Given the description of an element on the screen output the (x, y) to click on. 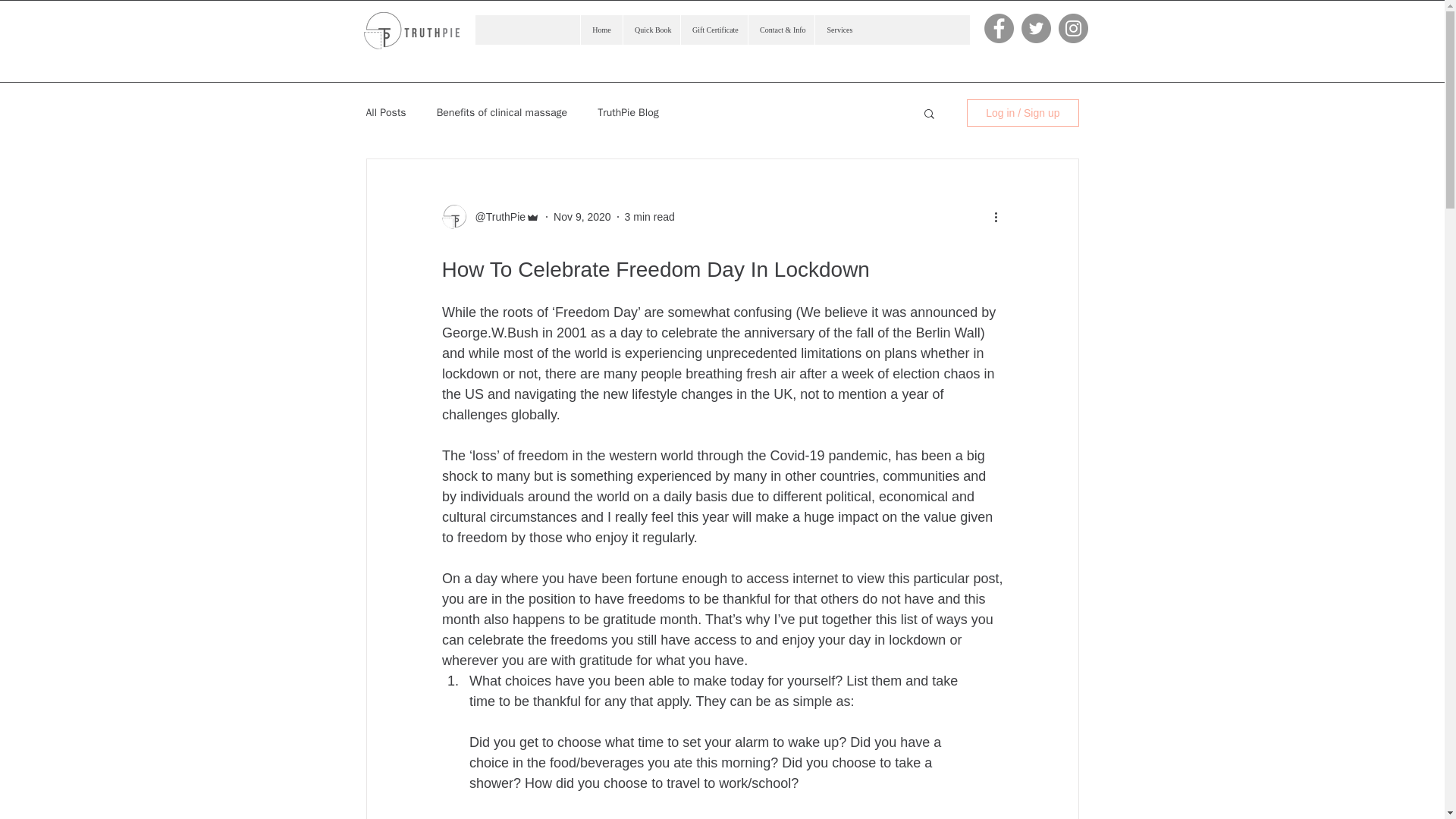
The letters T P in the centre of a pie chart (412, 30)
Nov 9, 2020 (582, 216)
TruthPie Blog (627, 112)
Quick Book (651, 30)
Home (601, 30)
Benefits of clinical massage (501, 112)
3 min read (649, 216)
Gift Certificate (713, 30)
All Posts (385, 112)
